Given the description of an element on the screen output the (x, y) to click on. 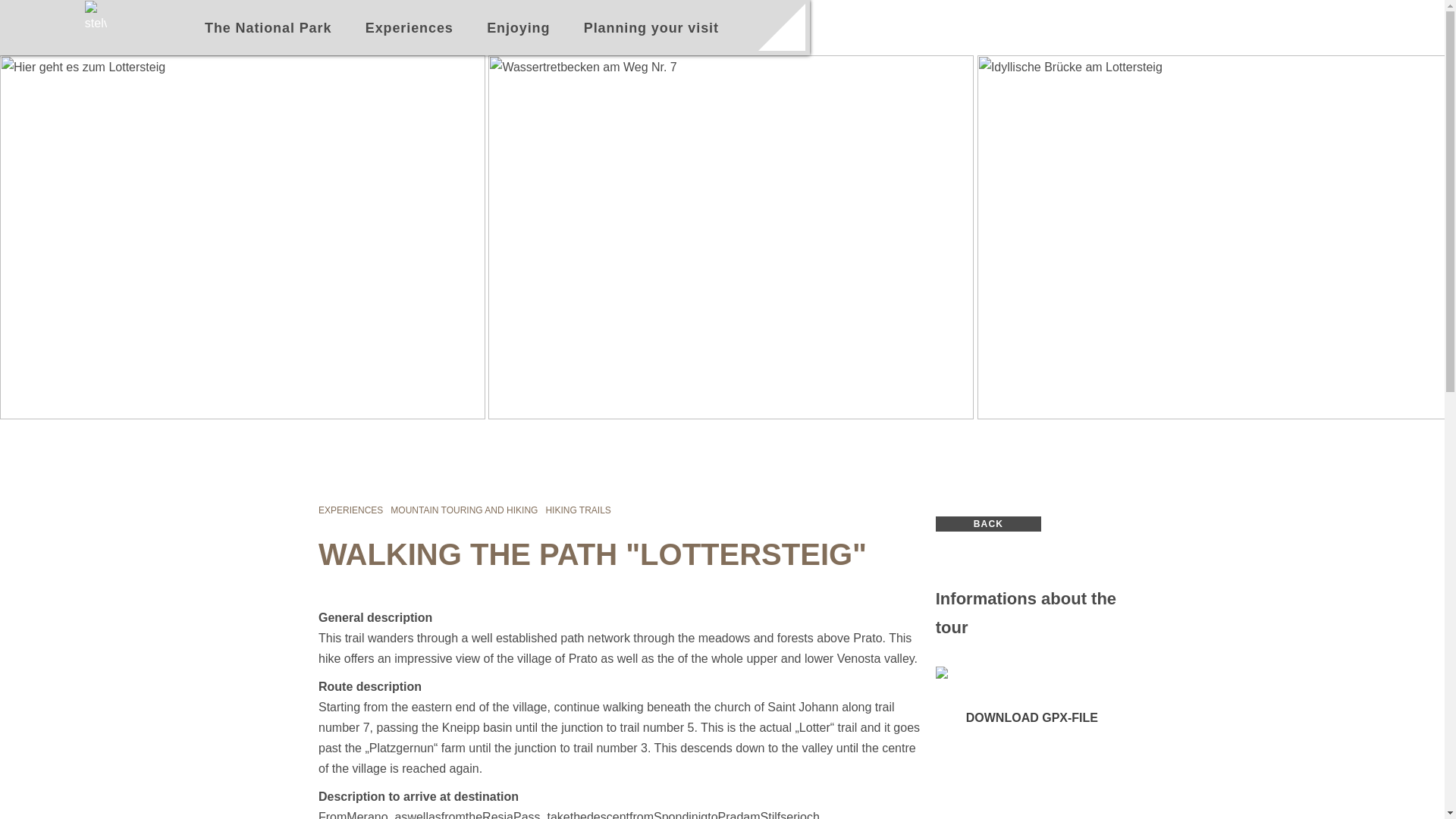
search (781, 27)
The National Park (267, 28)
